Given the description of an element on the screen output the (x, y) to click on. 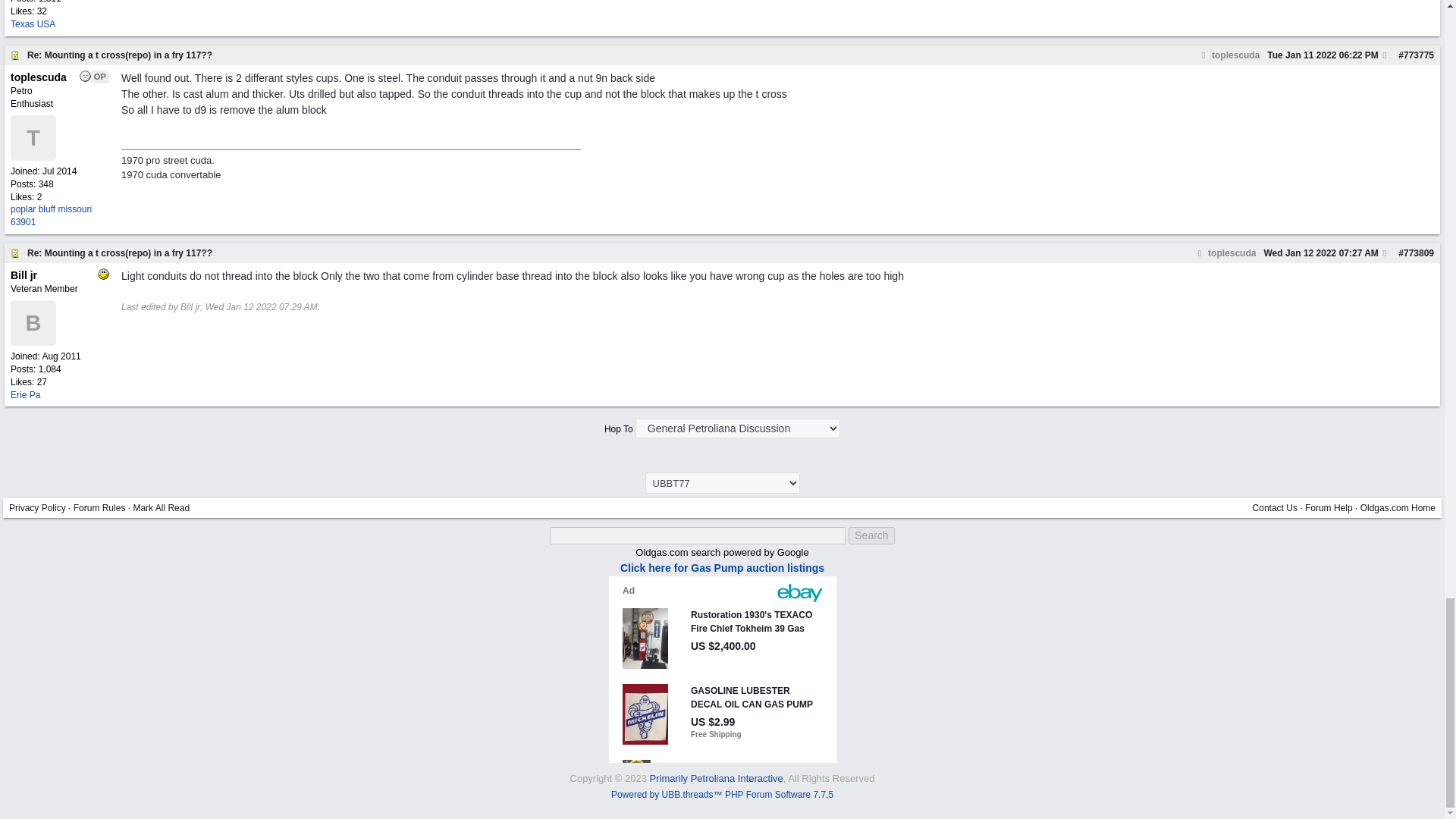
Search (870, 535)
